Given the description of an element on the screen output the (x, y) to click on. 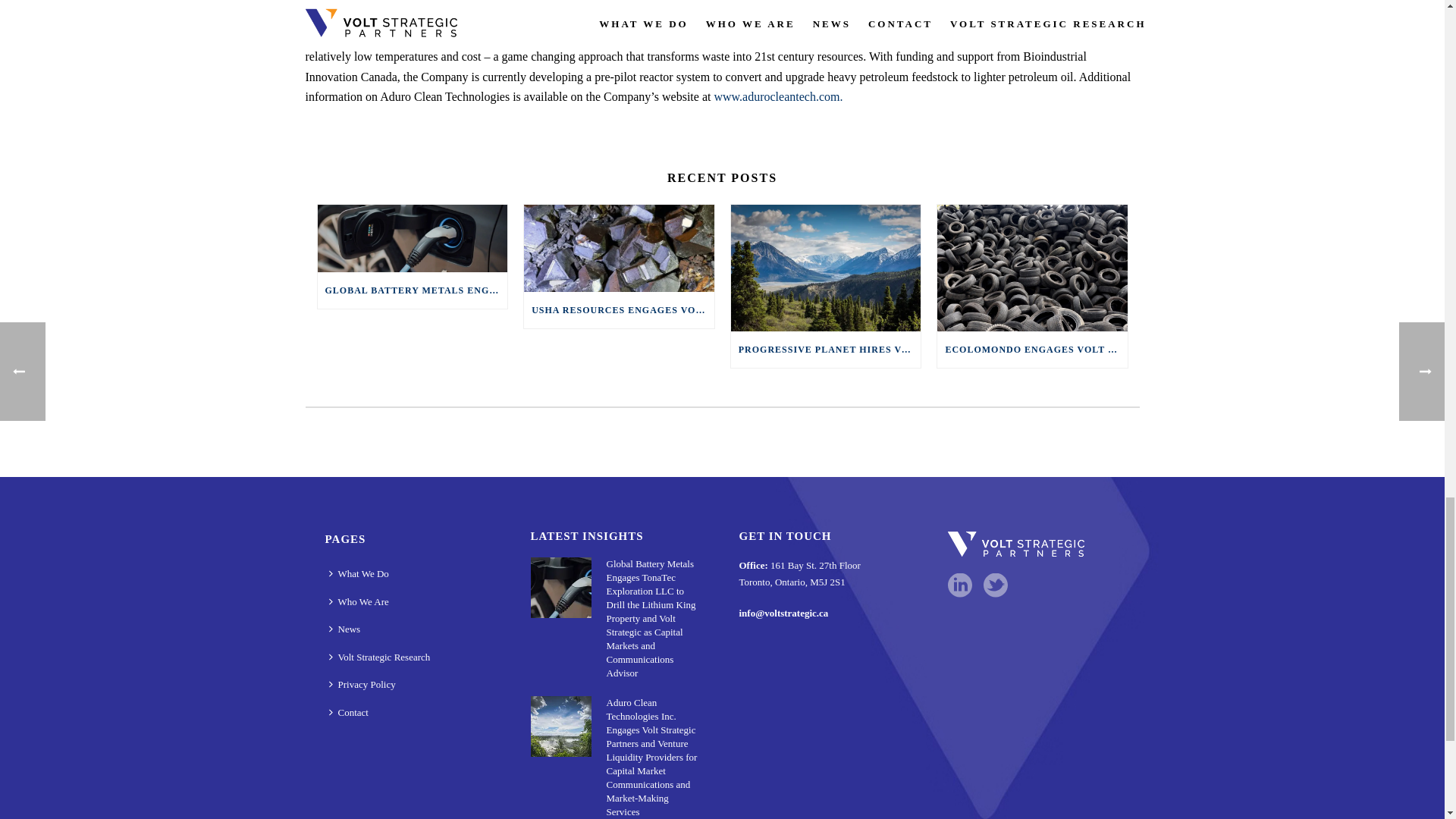
Usha Resources Engages Volt Strategic Partners (619, 248)
Who We Are (361, 602)
Privacy Policy (365, 684)
Follow Us on linkedin (959, 585)
www.adurocleantech.com. (778, 96)
Volt Strategic Research (382, 657)
